Given the description of an element on the screen output the (x, y) to click on. 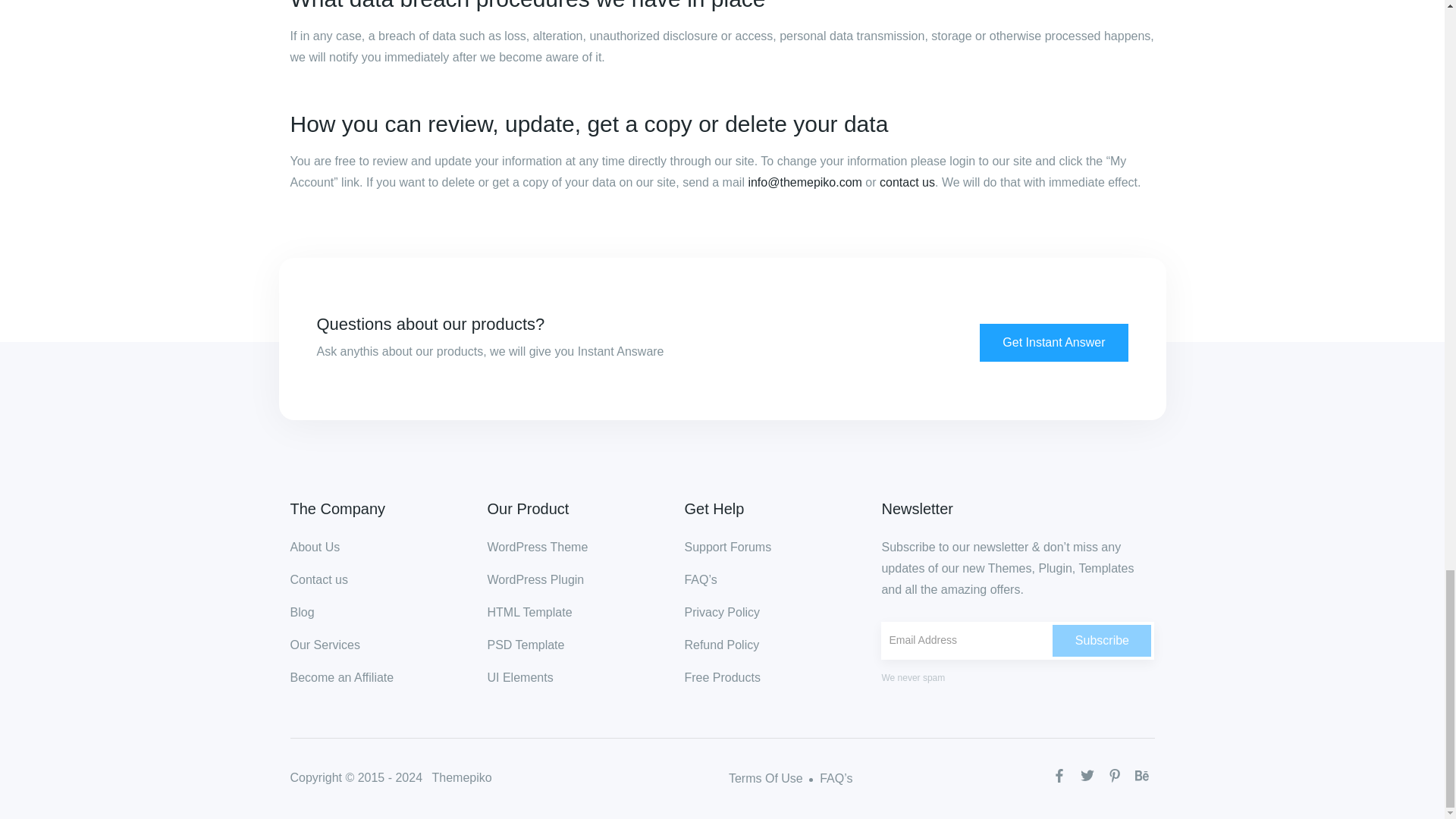
Subscribe (1101, 640)
contact us (906, 181)
